Given the description of an element on the screen output the (x, y) to click on. 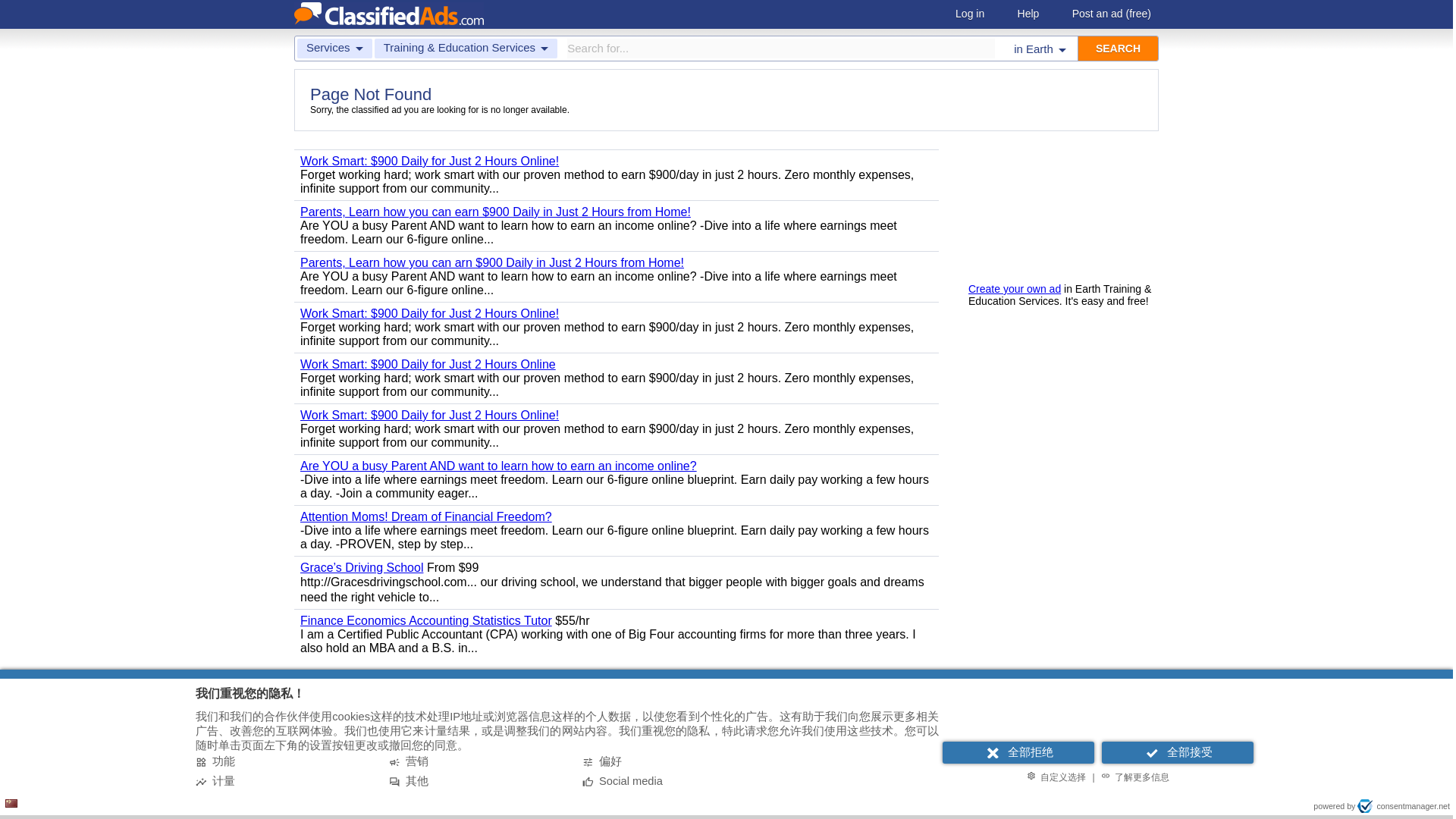
SEARCH (1117, 48)
Log in (969, 14)
SEARCH (1117, 48)
Help (1028, 14)
